Given the description of an element on the screen output the (x, y) to click on. 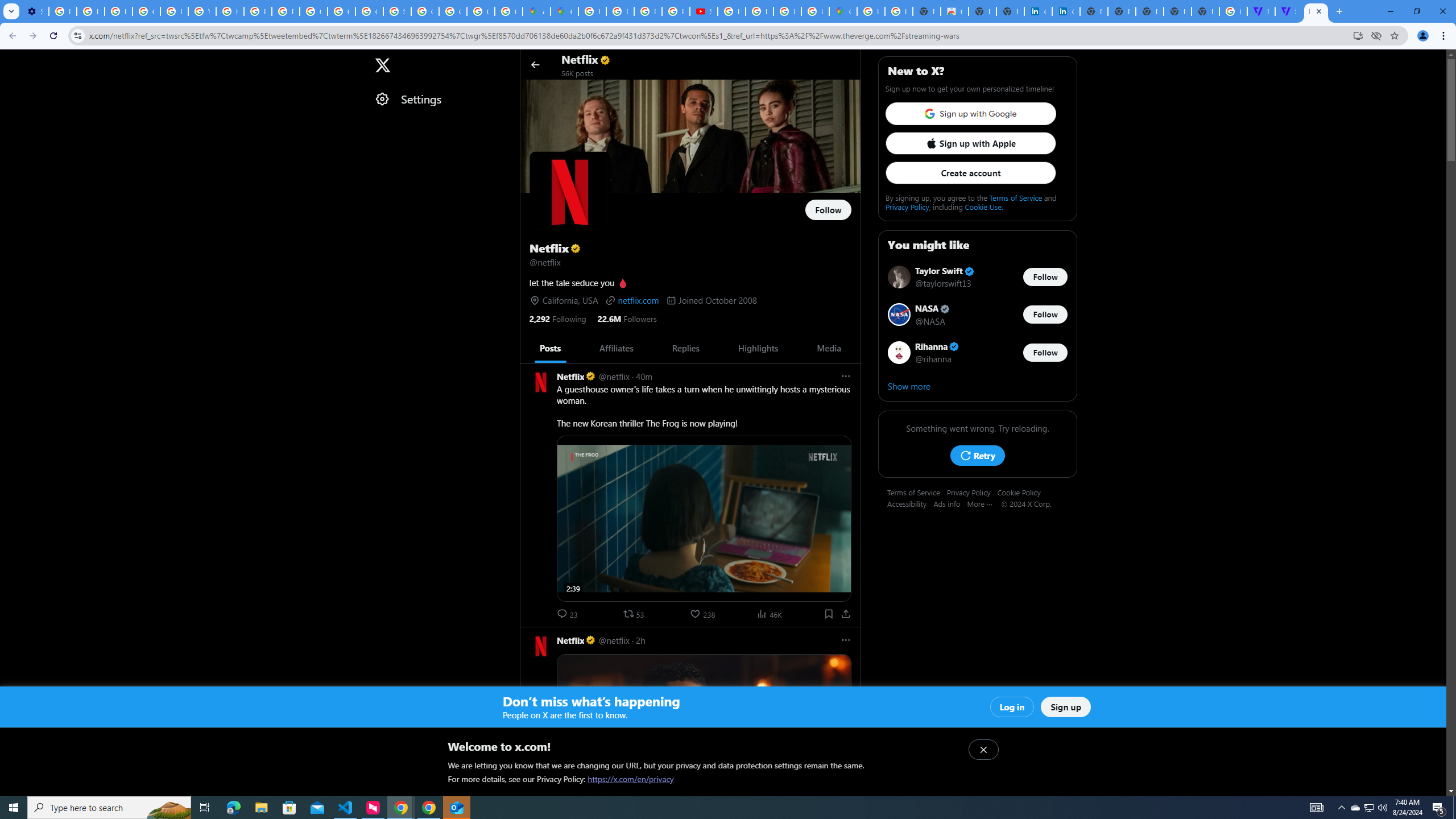
Media (828, 347)
NASA Verified account (932, 308)
Follow @NASA (1045, 314)
Posts (549, 347)
Rihanna Verified account @rihanna Follow @rihanna (977, 352)
Follow @rihanna (1045, 352)
netflix.com (631, 300)
Taylor Swift Verified account (945, 271)
https://scholar.google.com/ (229, 11)
YouTube (202, 11)
22.6M Followers (626, 318)
Share post (845, 613)
